Given the description of an element on the screen output the (x, y) to click on. 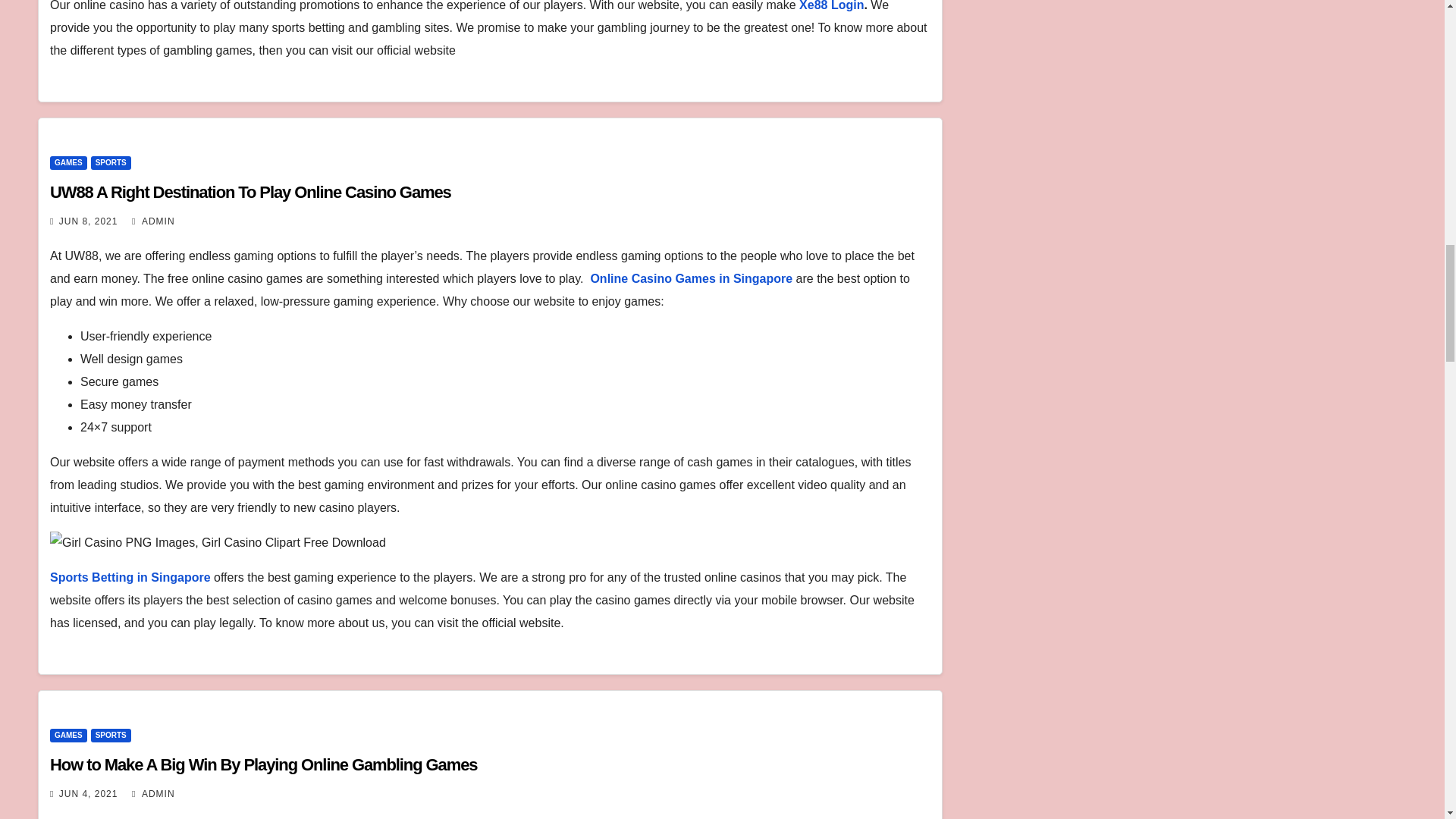
JUN 8, 2021 (88, 221)
UW88 A Right Destination To Play Online Casino Games (250, 191)
JUN 4, 2021 (88, 793)
Online Casino Games in Singapore (690, 278)
GAMES (68, 162)
GAMES (68, 735)
ADMIN (153, 221)
How to Make A Big Win By Playing Online Gambling Games (263, 764)
ADMIN (153, 793)
SPORTS (110, 735)
